Given the description of an element on the screen output the (x, y) to click on. 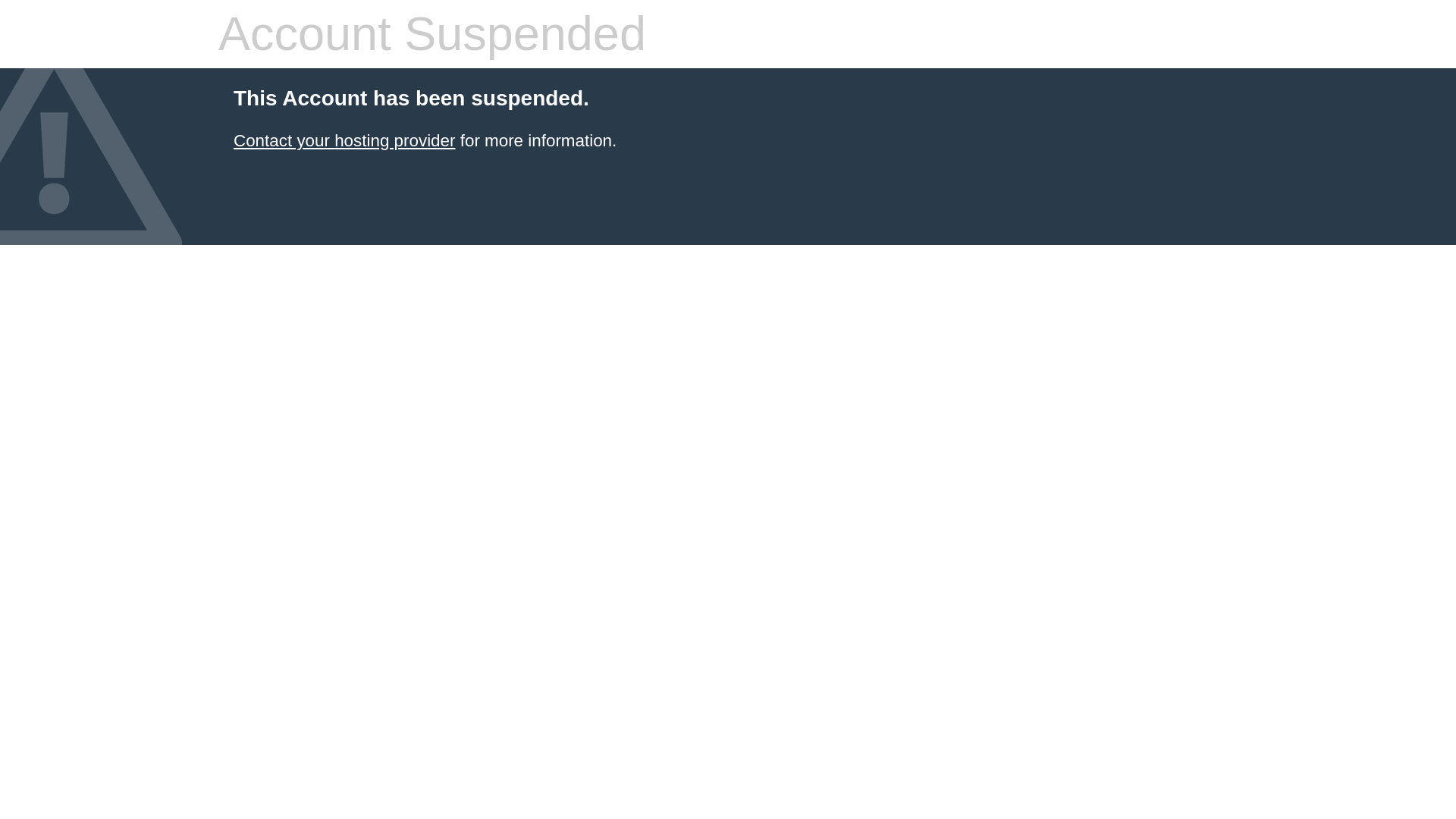
Contact your hosting provider (343, 140)
